Given the description of an element on the screen output the (x, y) to click on. 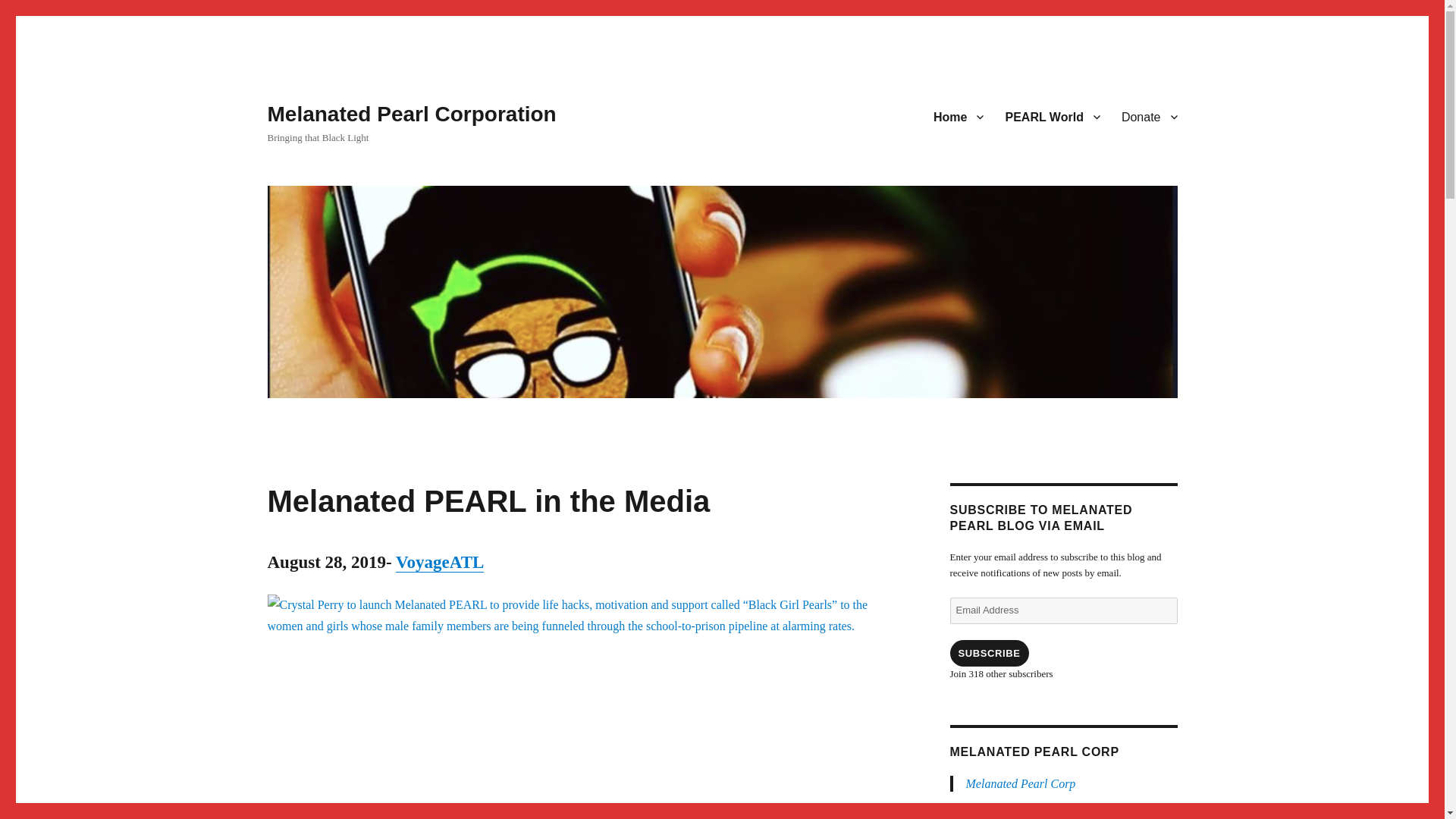
VoyageATL (439, 561)
MELANATED PEARL CORP (1033, 751)
PEARL World (1051, 116)
Donate (1149, 116)
Welcome To Melanated Pearl  (958, 116)
Home (958, 116)
SUBSCRIBE (988, 652)
Melanated Pearl Corp (1020, 783)
Melanated Pearl Corporation (411, 114)
Featured Vendors (1051, 116)
